Given the description of an element on the screen output the (x, y) to click on. 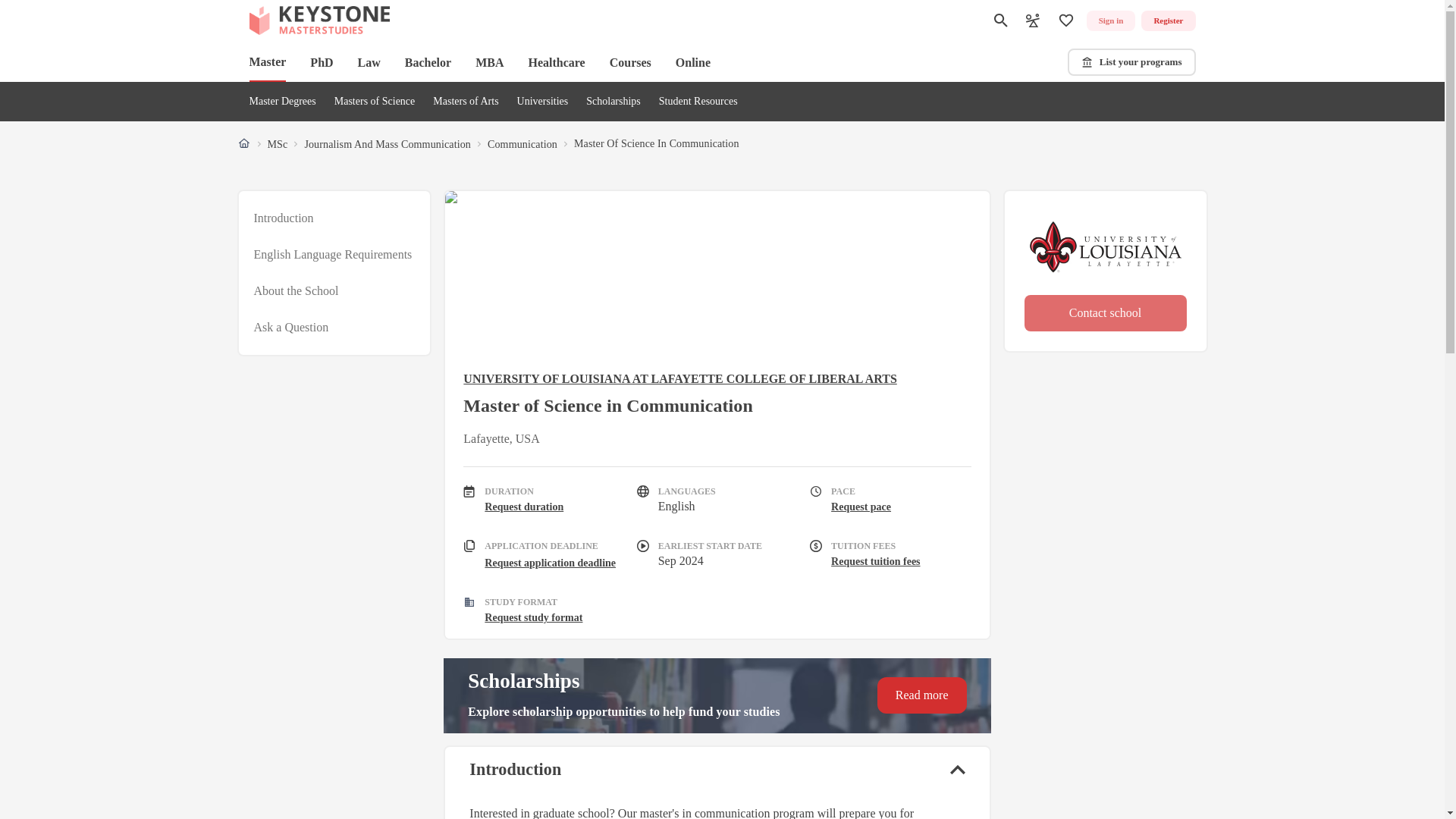
Master (266, 62)
Master Degrees (281, 101)
Courses (630, 63)
Universities (542, 101)
List your programs (1131, 62)
Ask a Question (291, 327)
English Language Requirements (332, 254)
Bachelor (427, 63)
Student Resources (698, 101)
